Given the description of an element on the screen output the (x, y) to click on. 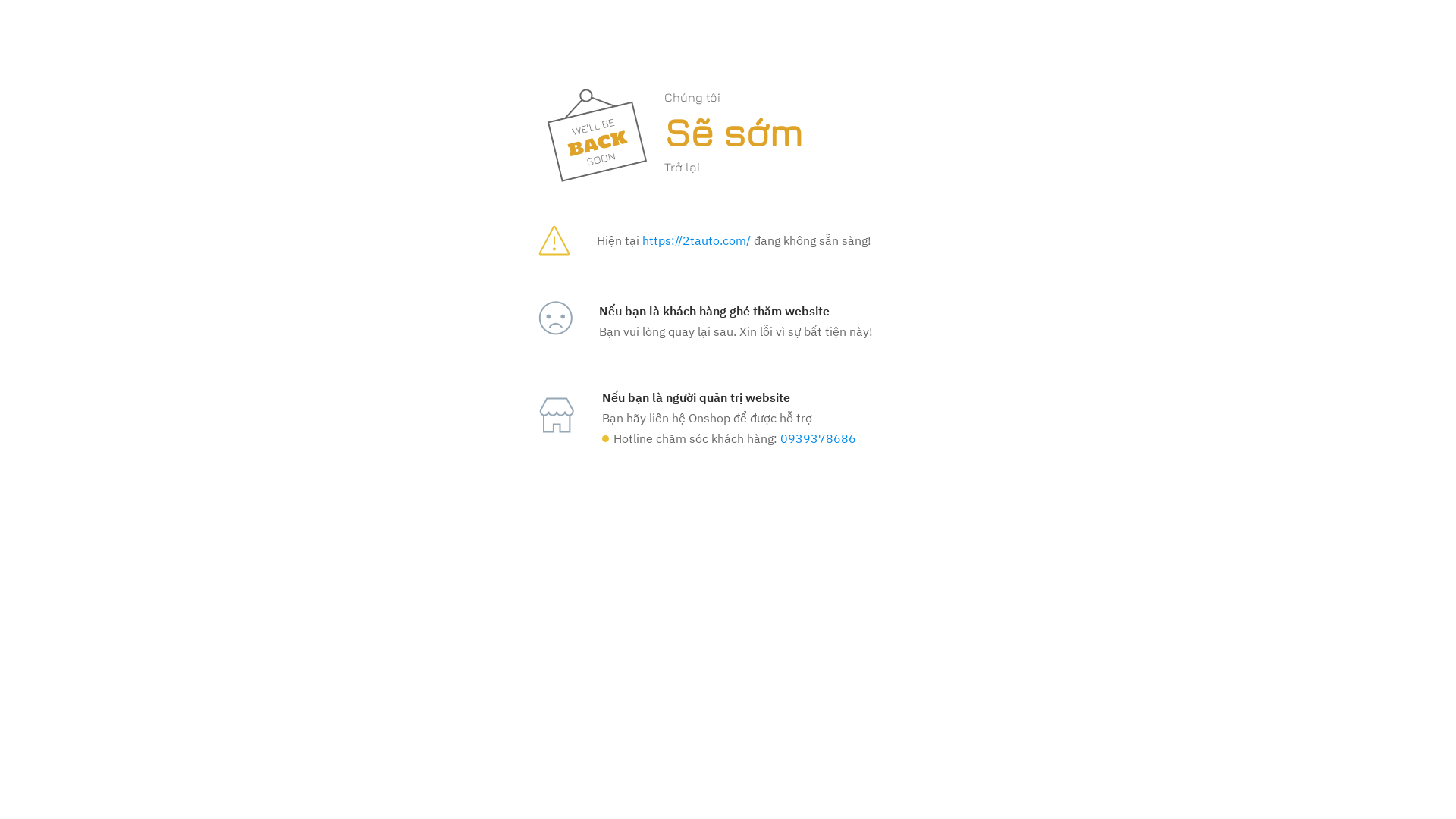
https://2tauto.com/ Element type: text (696, 239)
0939378686 Element type: text (818, 437)
